Given the description of an element on the screen output the (x, y) to click on. 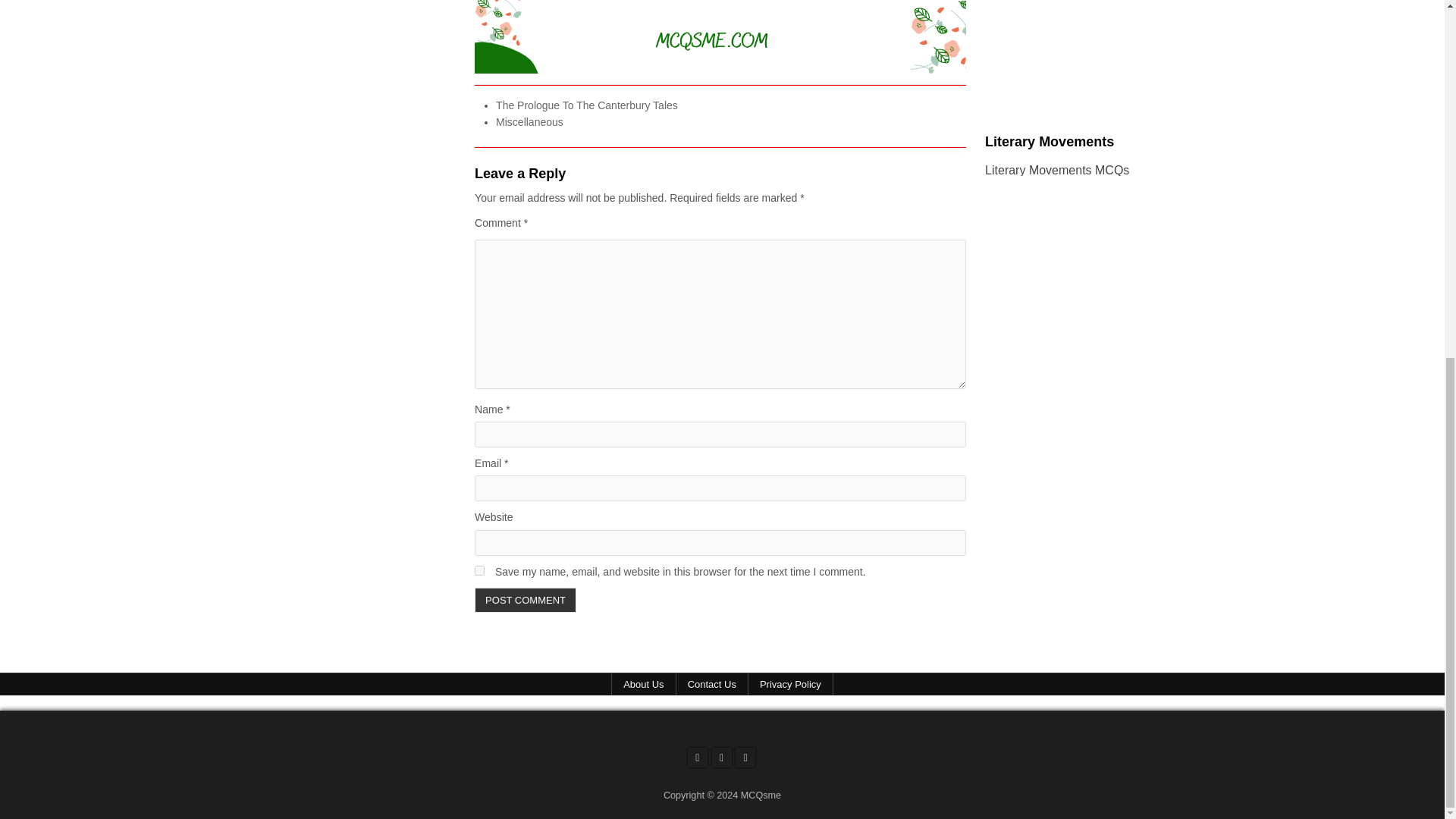
Miscellaneous (529, 121)
Post Comment (525, 600)
Contact Us (712, 684)
Post Comment (525, 600)
The Prologue To The Canterbury Tales (587, 105)
yes (479, 570)
About Us (643, 684)
Advertisement (1079, 49)
Literary Movements MCQs (1057, 169)
Privacy Policy (790, 684)
